Given the description of an element on the screen output the (x, y) to click on. 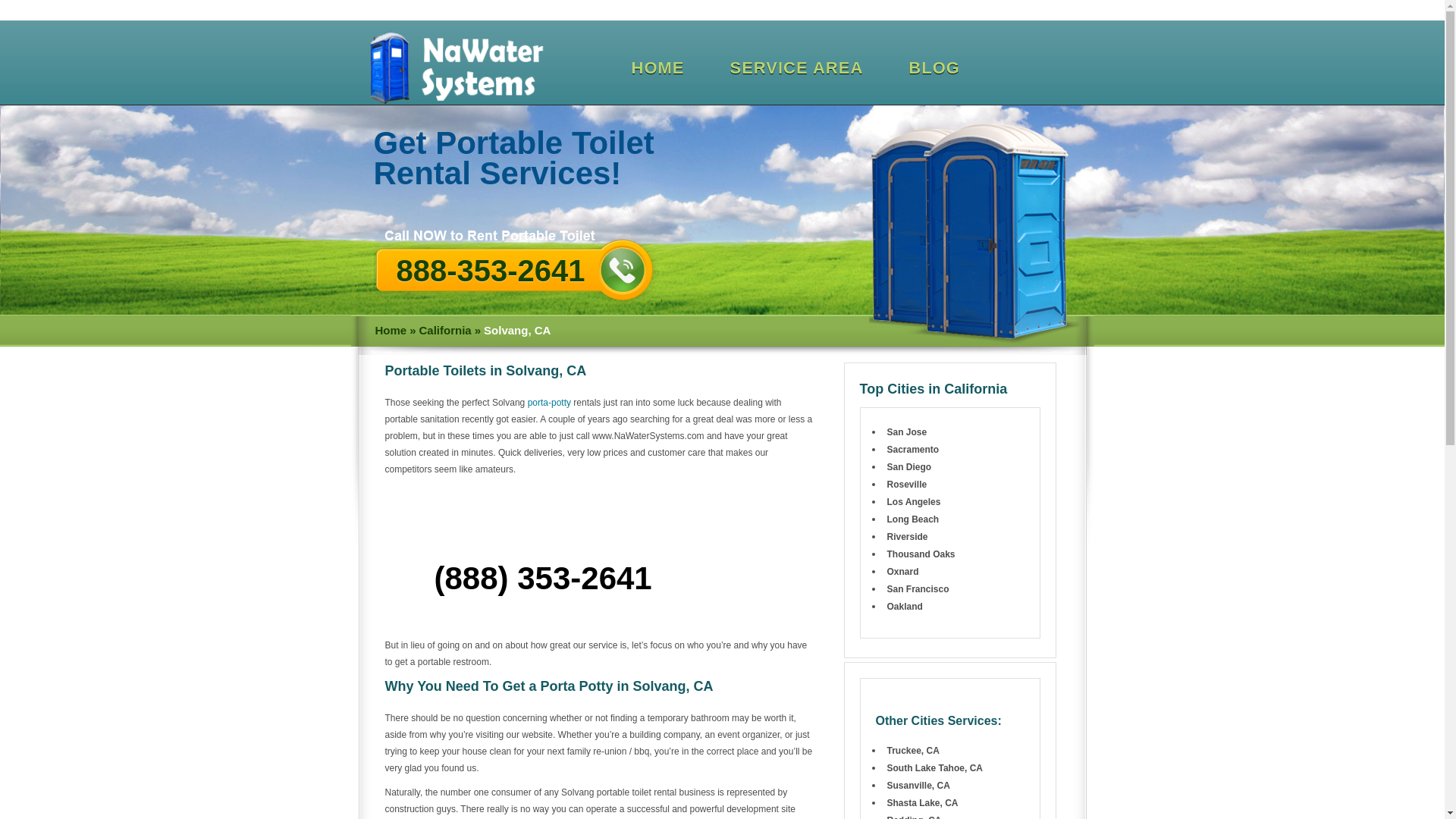
Portable Toilets in South Lake Tahoe, CA (934, 767)
Portable Toilets in Shasta Lake, CA (922, 802)
porta-potty (548, 402)
Portable Toilets in Susanville, CA (918, 785)
Portable Toilets in Redding, CA (914, 816)
Home (390, 330)
San Jose (906, 431)
HOME (657, 68)
San Diego (908, 466)
Truckee, CA (912, 750)
Shasta Lake, CA (922, 802)
Roseville (906, 484)
South Lake Tahoe, CA (934, 767)
Riverside (907, 536)
Thousand Oaks (920, 553)
